Given the description of an element on the screen output the (x, y) to click on. 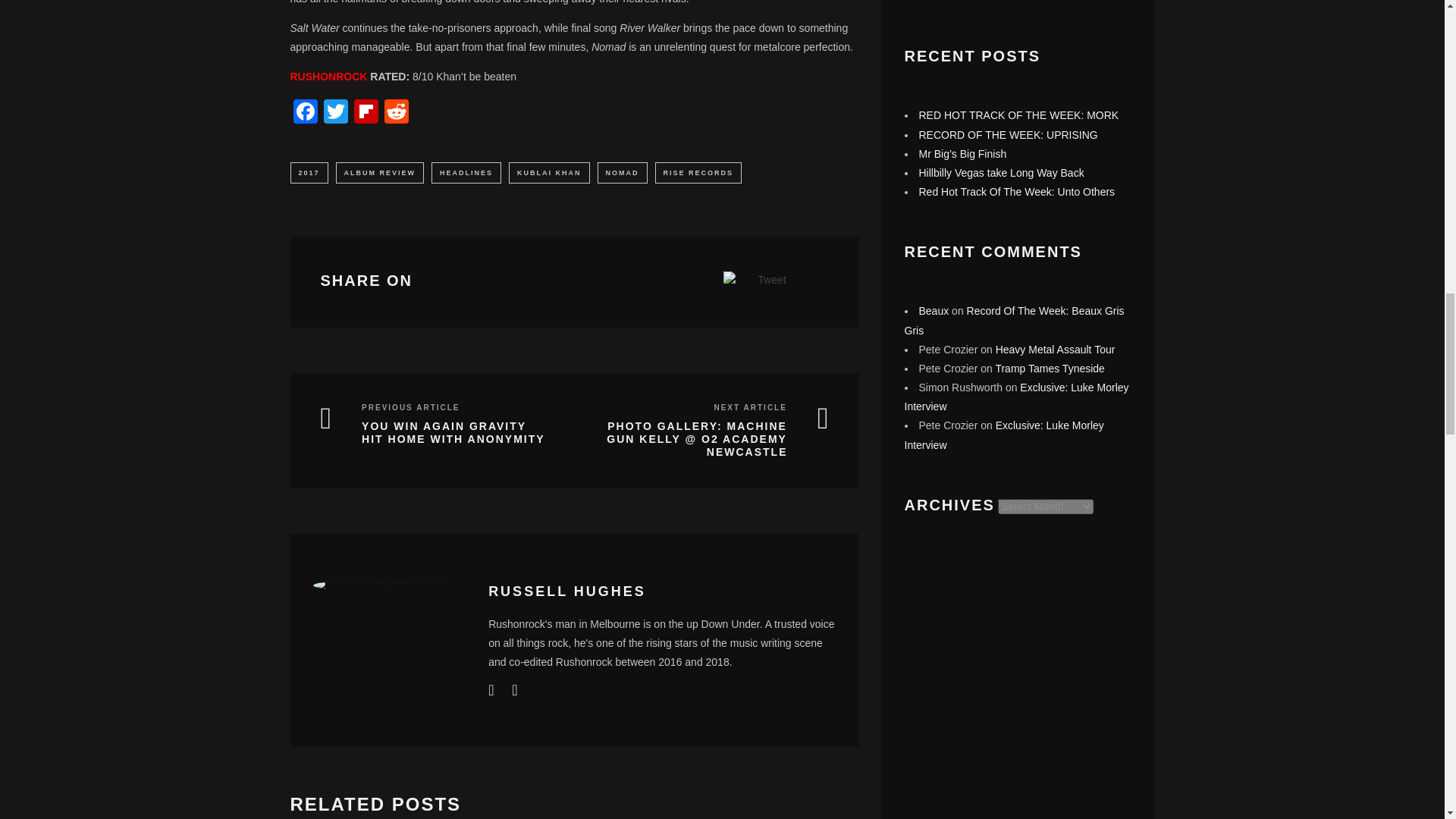
Flipboard (365, 113)
Facebook (304, 113)
Twitter (335, 113)
